Given the description of an element on the screen output the (x, y) to click on. 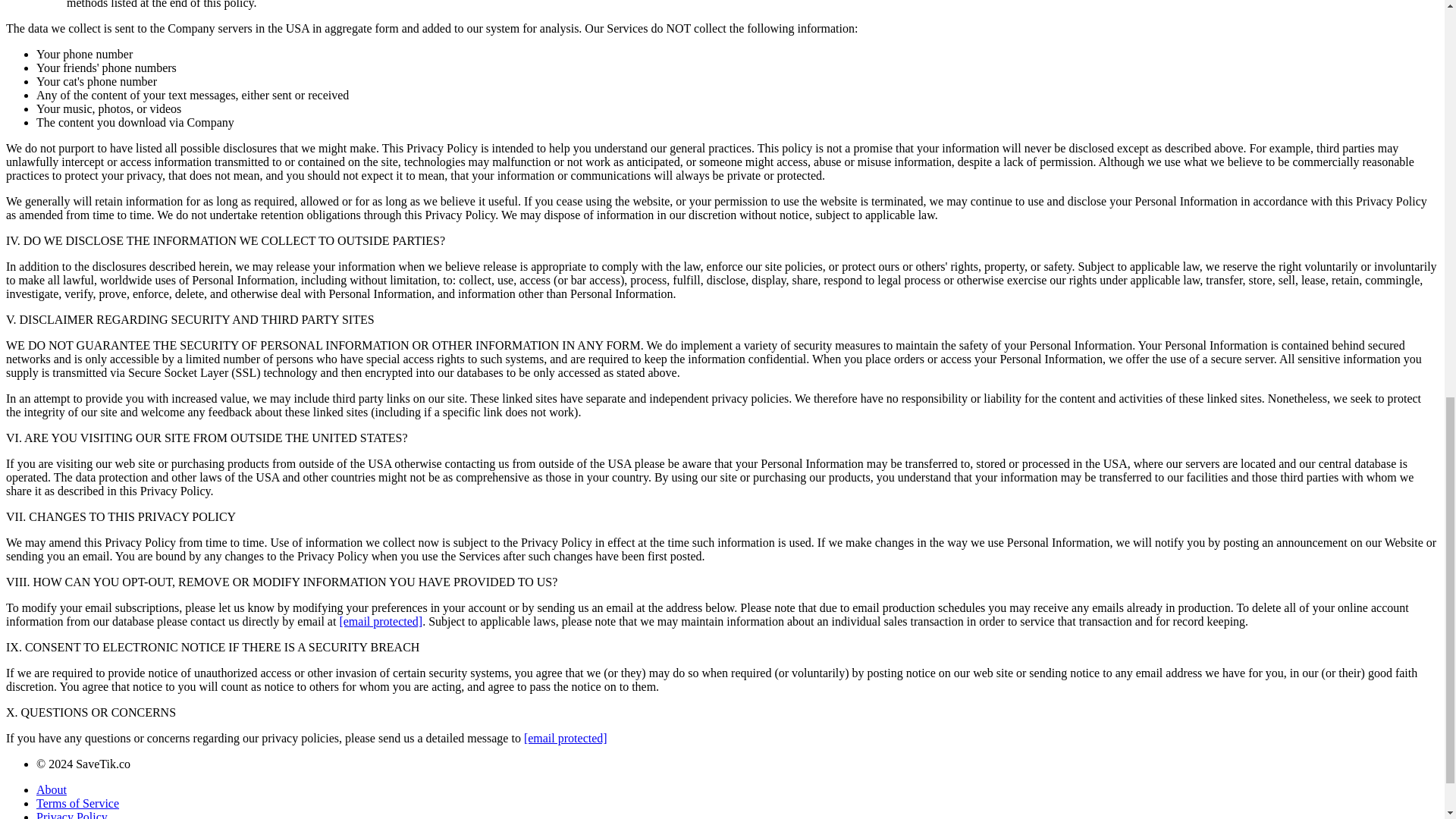
Terms of Service (77, 802)
About (51, 789)
Privacy Policy (71, 814)
